Given the description of an element on the screen output the (x, y) to click on. 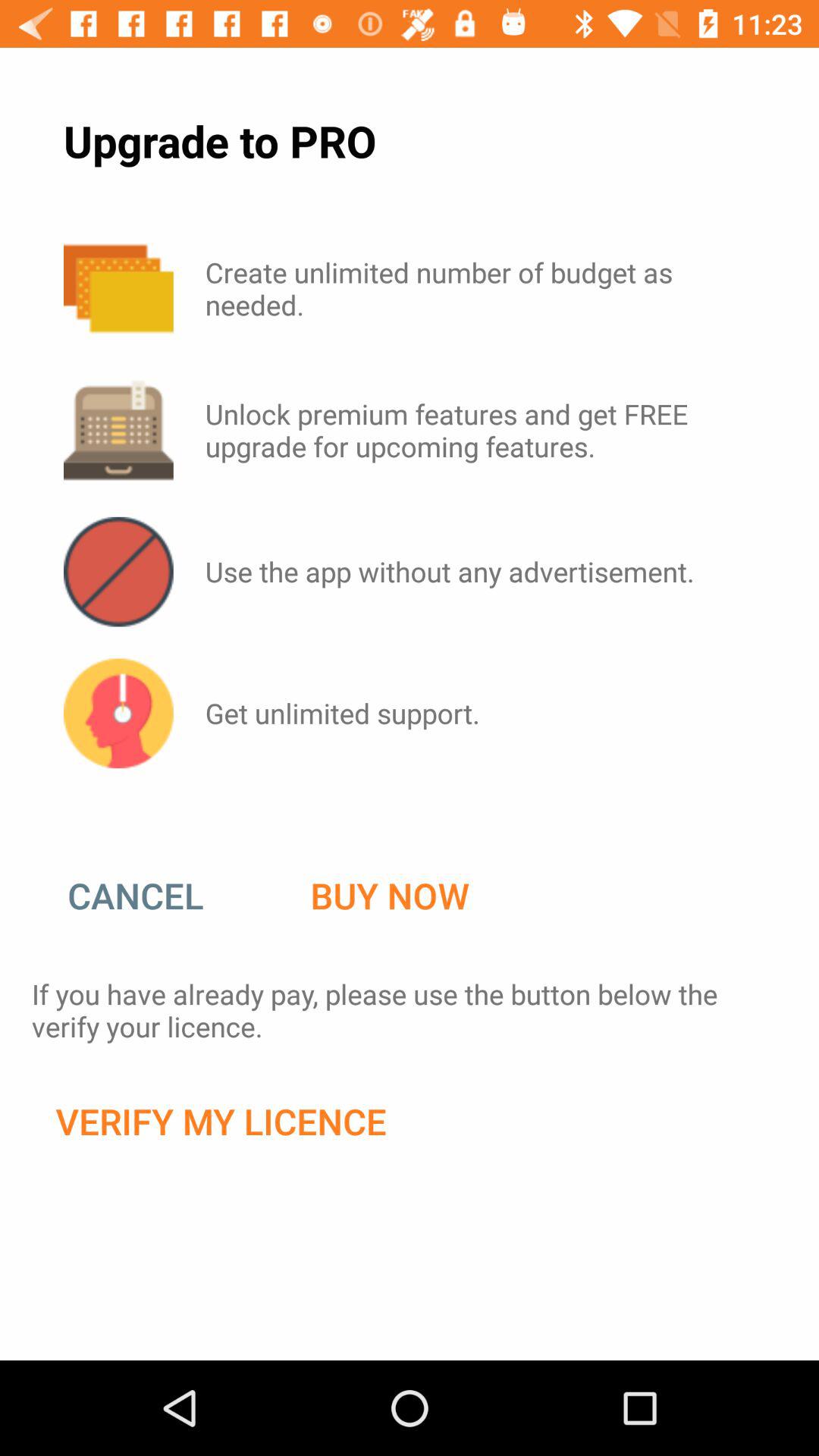
turn on buy now item (389, 895)
